Given the description of an element on the screen output the (x, y) to click on. 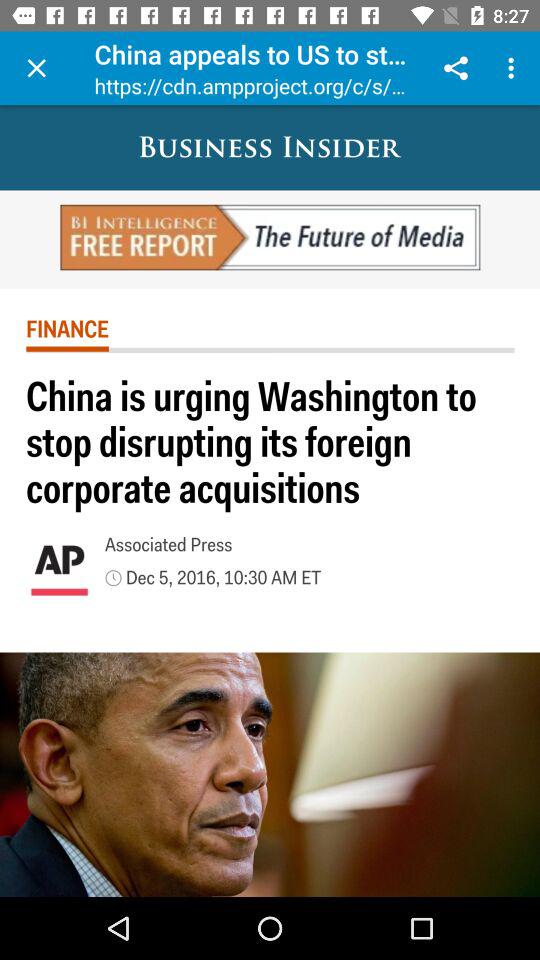
close page (36, 68)
